Given the description of an element on the screen output the (x, y) to click on. 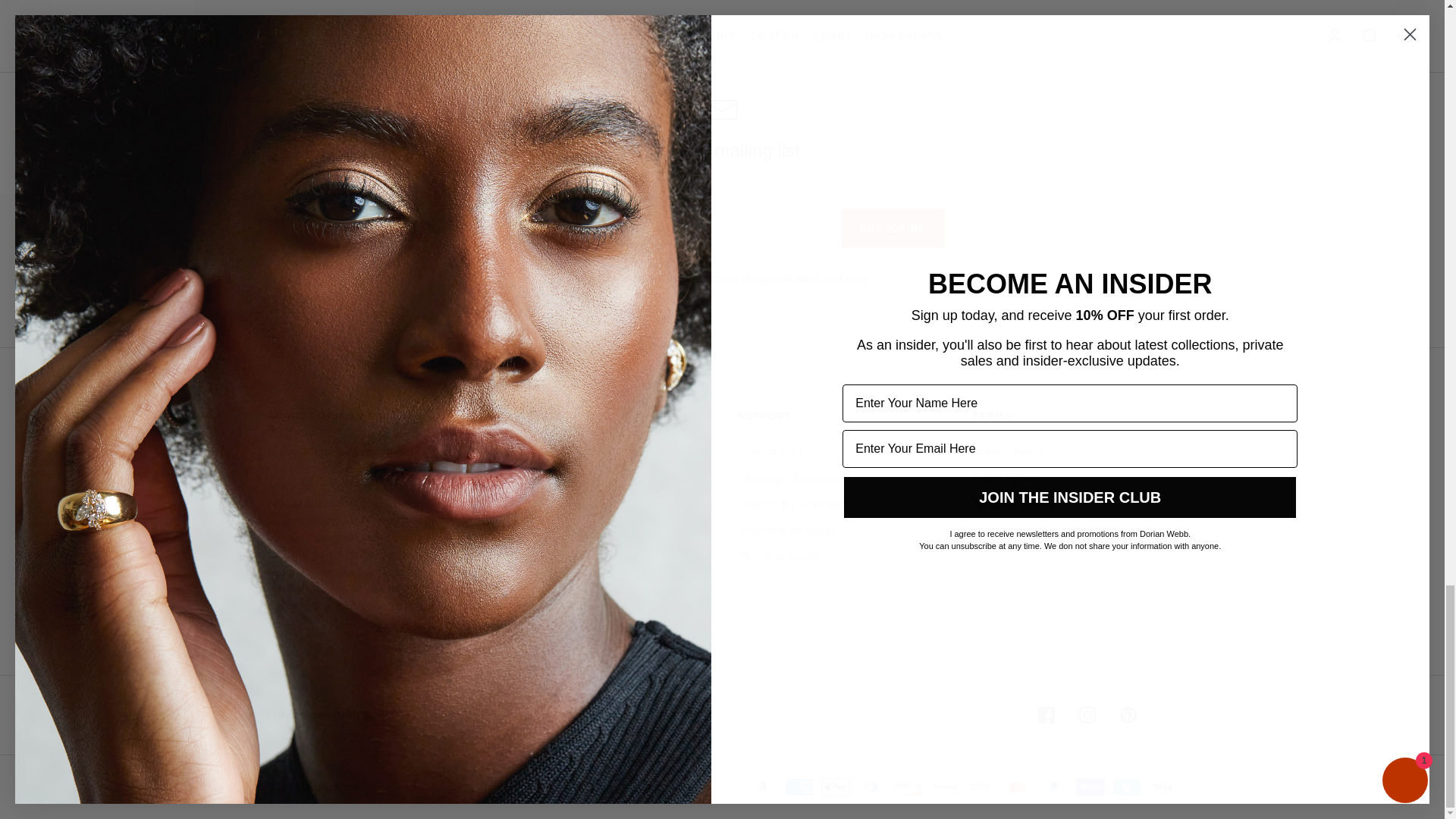
Email (722, 109)
Down (383, 716)
